Given the description of an element on the screen output the (x, y) to click on. 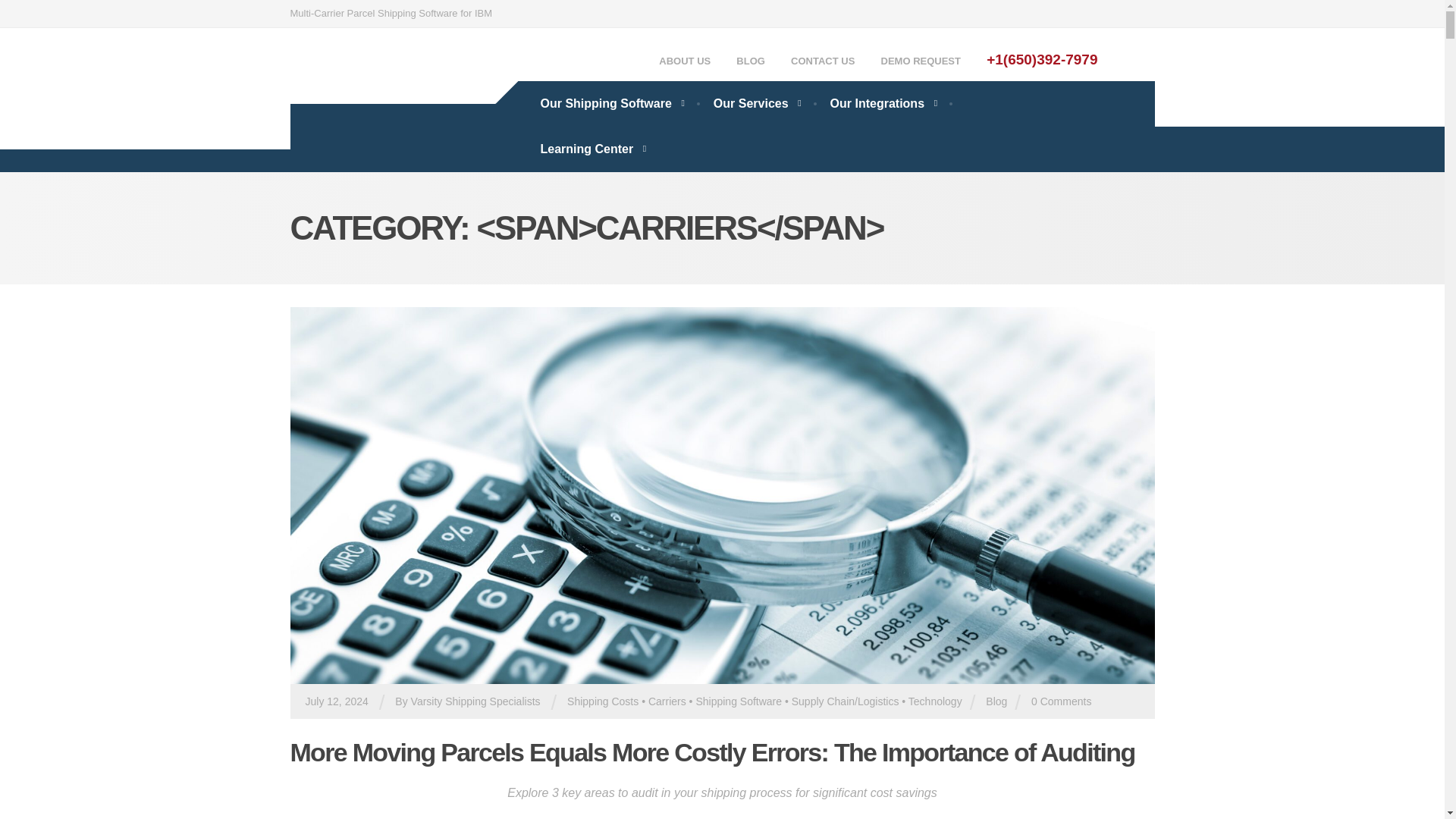
Learning Center (591, 148)
ABOUT US (684, 62)
Technology (935, 701)
0 Comments (1060, 701)
DEMO REQUEST (920, 61)
Our Services (756, 103)
Our Integrations (882, 103)
CONTACT US (822, 61)
Shipping Costs (603, 701)
Our Shipping Software (610, 103)
BLOG (750, 61)
Shipping Software (738, 701)
Carriers (666, 701)
Blog (996, 701)
